Given the description of an element on the screen output the (x, y) to click on. 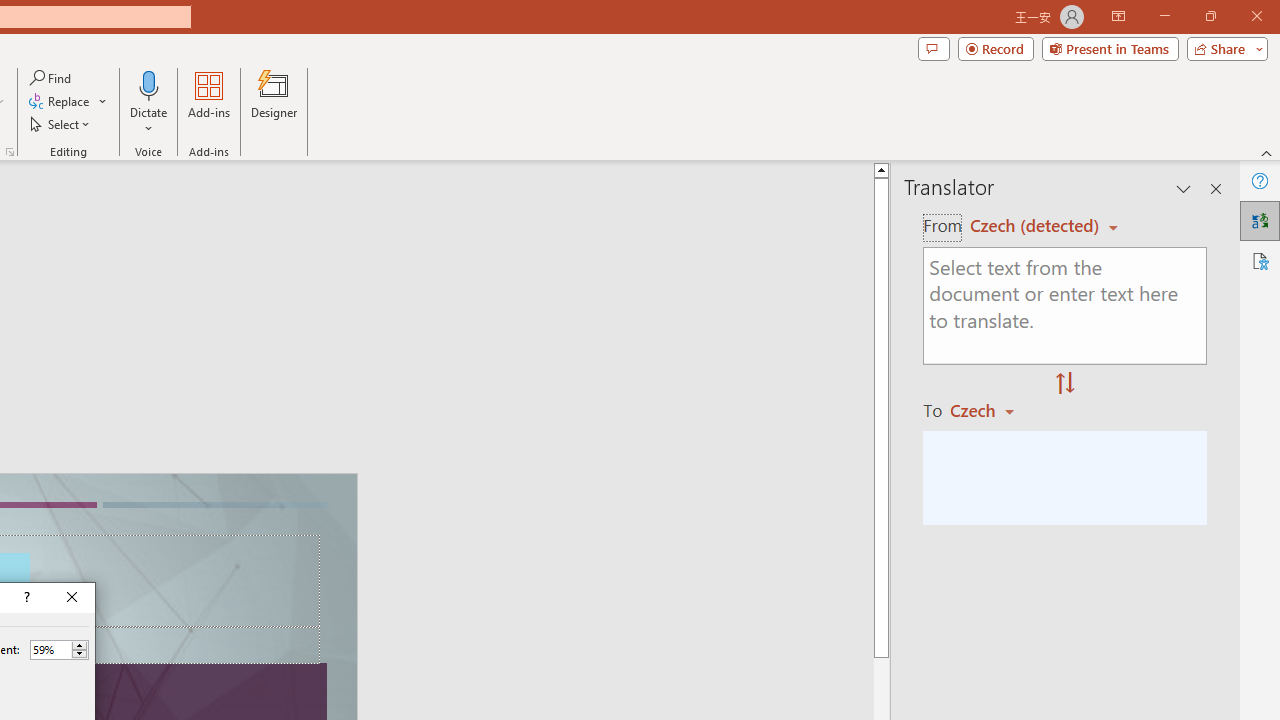
Czech (detected) (1037, 225)
Context help (25, 597)
Percent (59, 650)
